Given the description of an element on the screen output the (x, y) to click on. 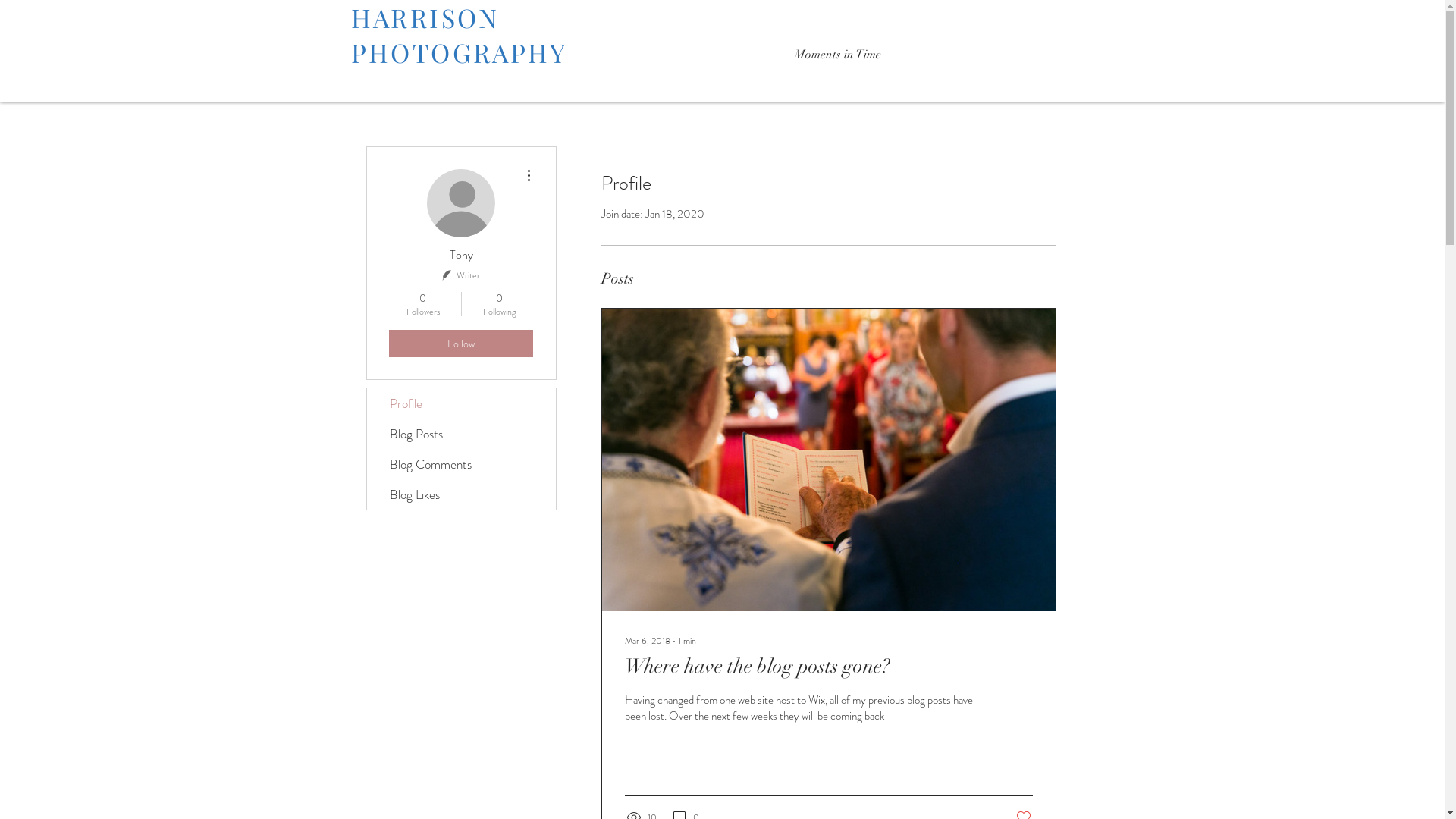
0
Following Element type: text (499, 303)
Blog Comments Element type: text (461, 463)
0
Followers Element type: text (422, 303)
Follow Element type: text (461, 343)
HARRISON Element type: text (424, 17)
Moments in Time Element type: text (836, 54)
Profile Element type: text (461, 403)
Blog Posts Element type: text (461, 433)
Blog Likes Element type: text (461, 494)
PHOTOGRAPHY Element type: text (458, 51)
